Given the description of an element on the screen output the (x, y) to click on. 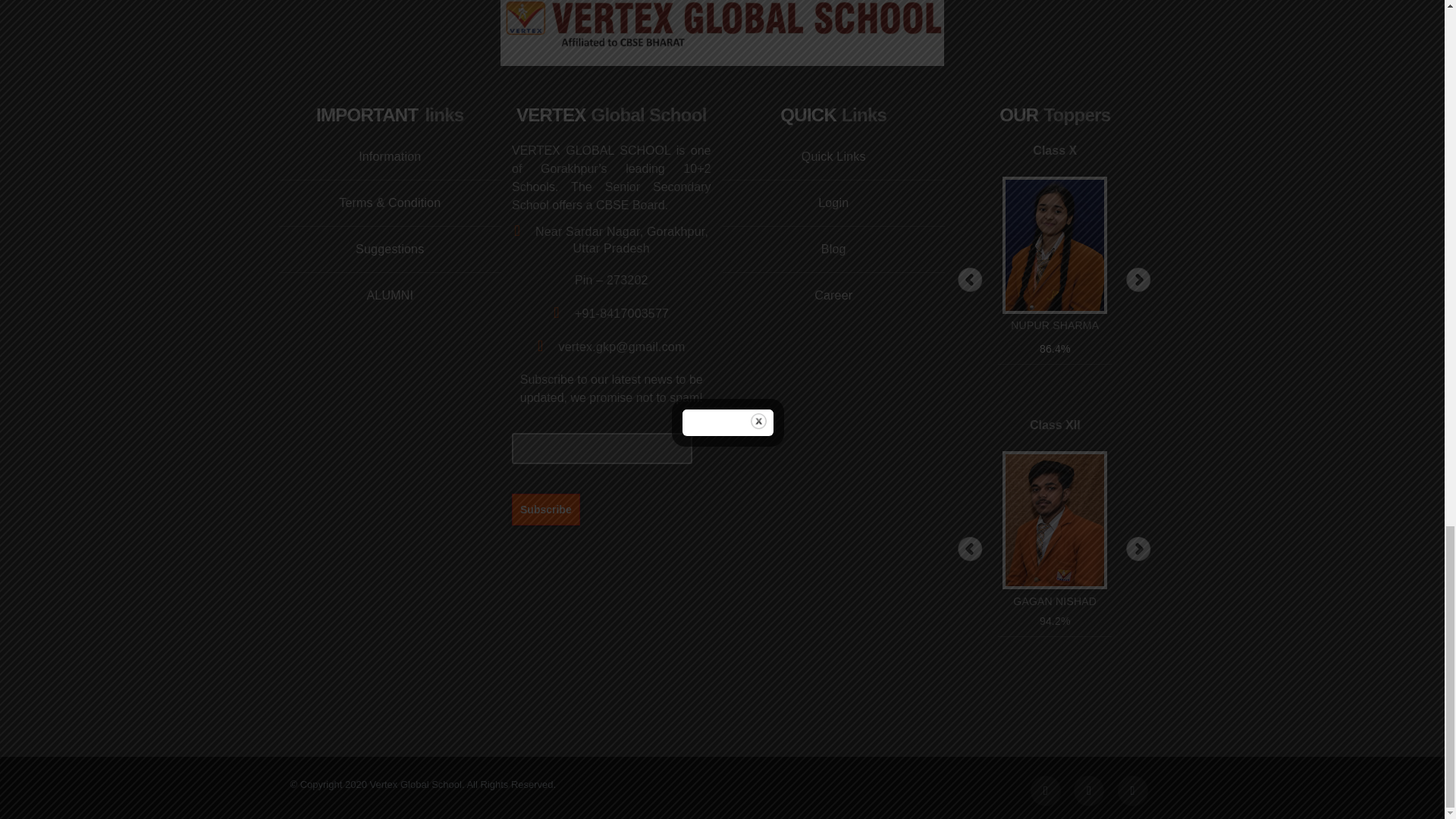
Subscribe (545, 508)
